Given the description of an element on the screen output the (x, y) to click on. 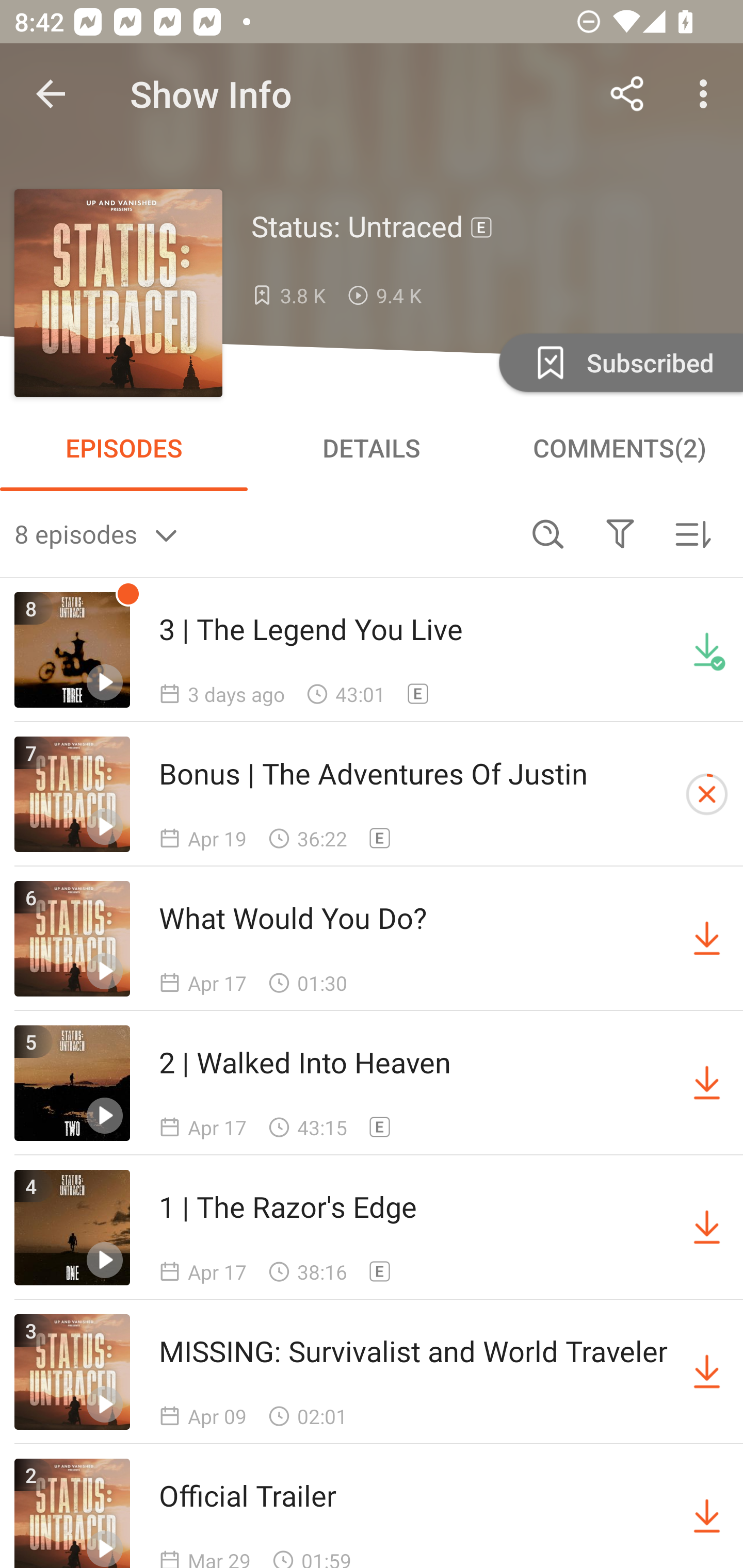
Navigate up (50, 93)
Share (626, 93)
More options (706, 93)
Unsubscribe Subscribed (619, 361)
EPISODES (123, 447)
DETAILS (371, 447)
COMMENTS(2) (619, 447)
8 episodes  (262, 533)
 Search (547, 533)
 (619, 533)
 Sorted by newest first (692, 533)
Downloaded (706, 649)
Cancel Downloading (706, 793)
Download (706, 939)
Download (706, 1083)
Download (706, 1227)
Download (706, 1371)
Download (706, 1513)
